Given the description of an element on the screen output the (x, y) to click on. 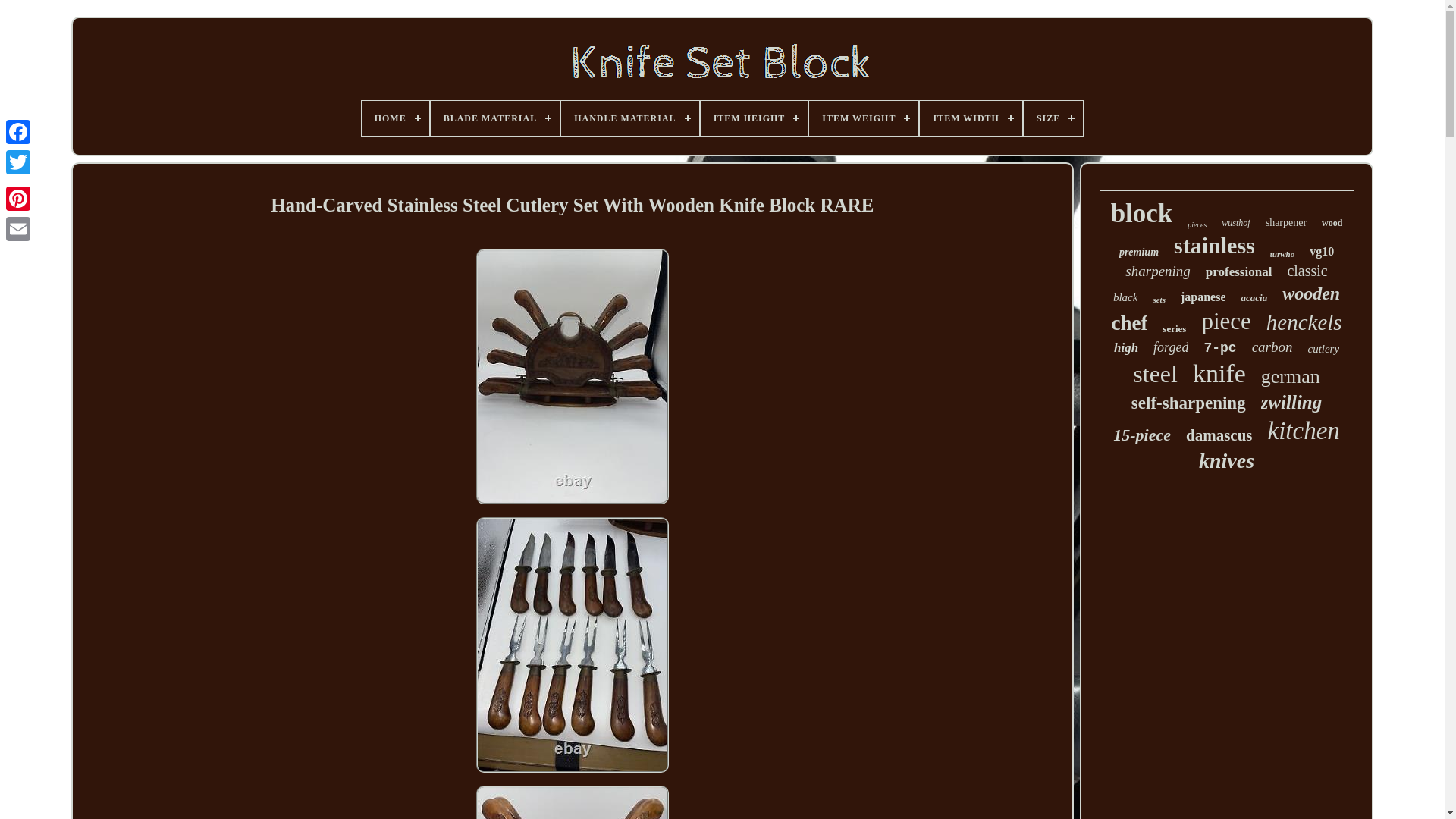
HOME (395, 117)
BLADE MATERIAL (494, 117)
ITEM HEIGHT (754, 117)
ITEM WEIGHT (863, 117)
HANDLE MATERIAL (629, 117)
